Given the description of an element on the screen output the (x, y) to click on. 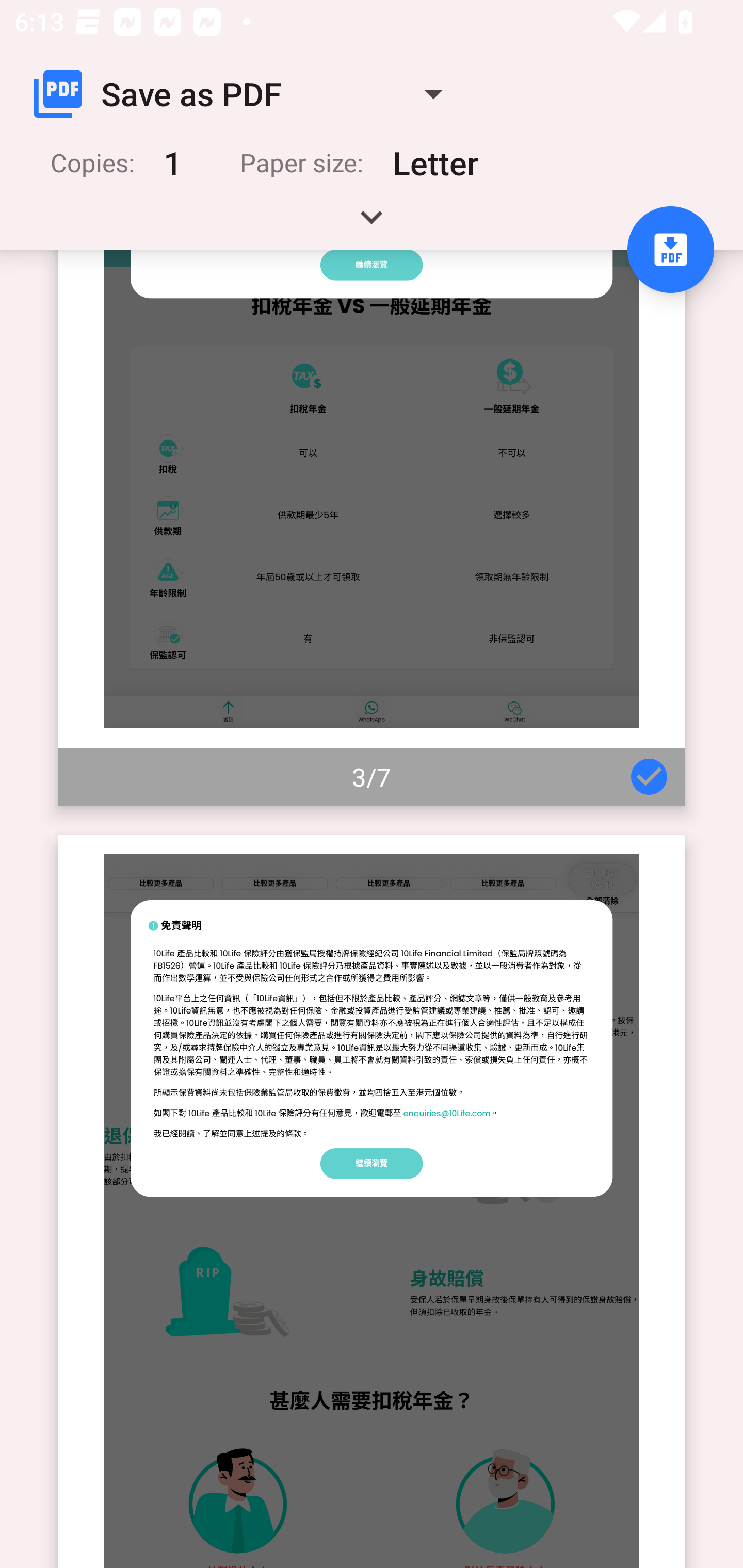
Save as PDF (245, 93)
Expand handle (371, 224)
Save to PDF (670, 249)
Page 4 of 7 (371, 1201)
